Given the description of an element on the screen output the (x, y) to click on. 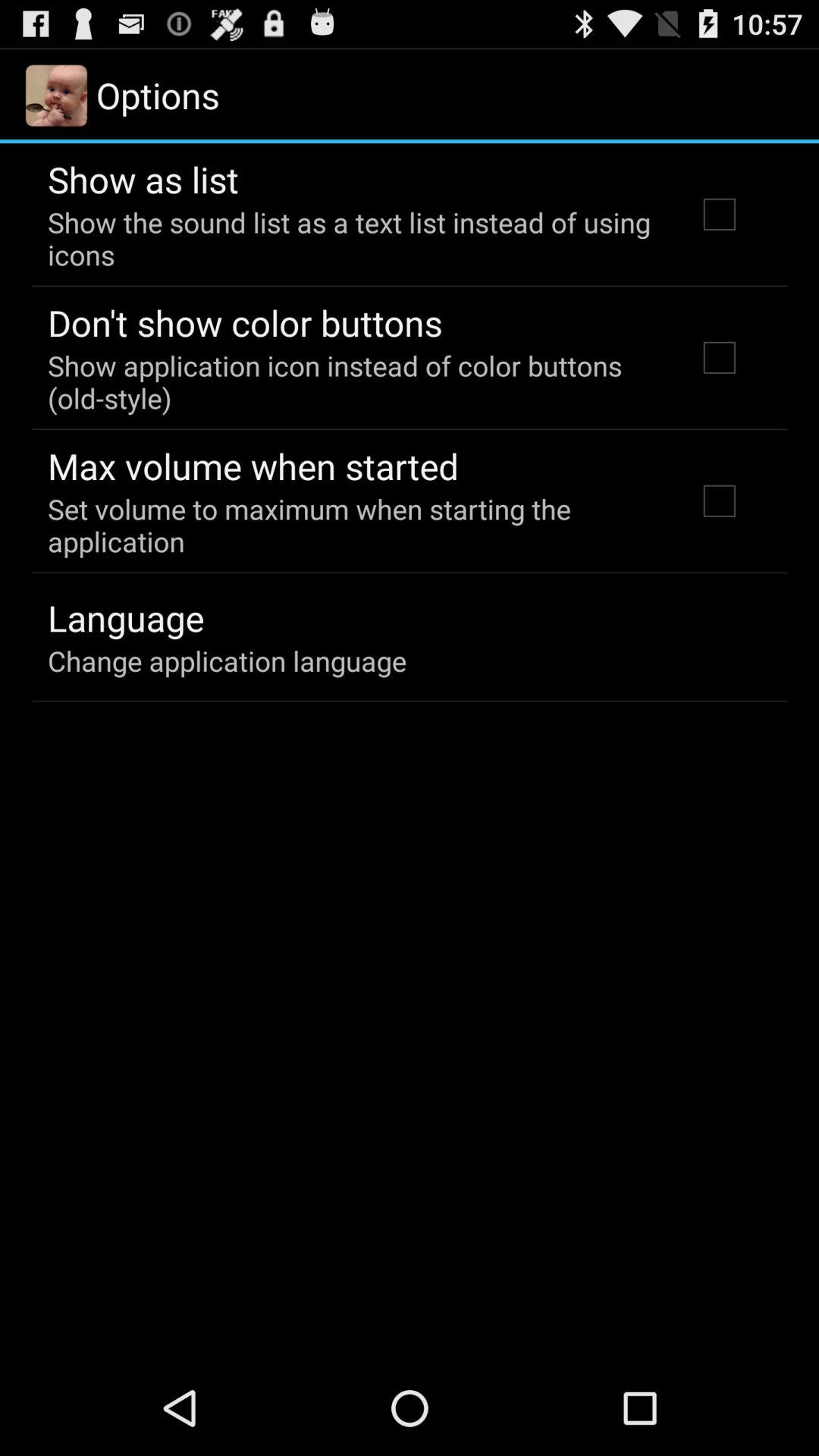
jump until the set volume to (351, 525)
